Given the description of an element on the screen output the (x, y) to click on. 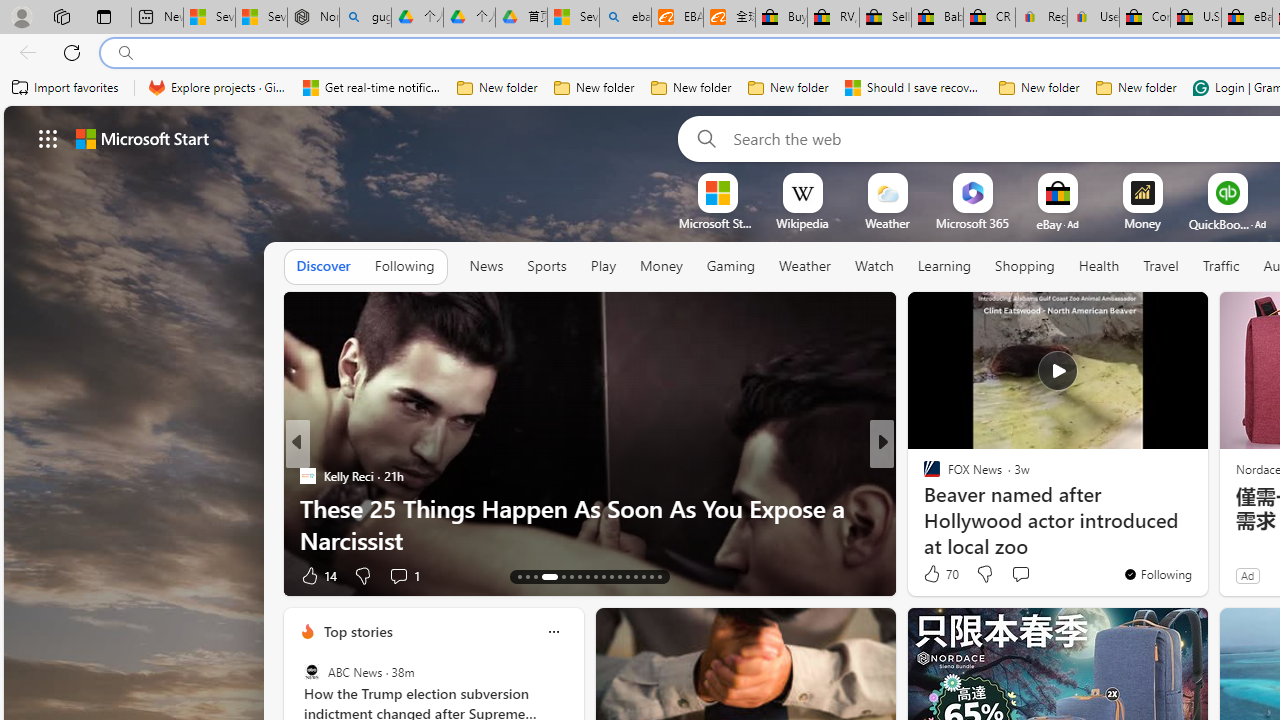
U.S. State Privacy Disclosures - eBay Inc. (1196, 17)
For The Win (923, 475)
AutomationID: tab-21 (595, 576)
View comments 24 Comment (1029, 574)
View comments 6 Comment (1014, 575)
Shopping (1025, 265)
SlashGear (923, 507)
AutomationID: tab-22 (603, 576)
Consumer Health Data Privacy Policy - eBay Inc. (1144, 17)
